Given the description of an element on the screen output the (x, y) to click on. 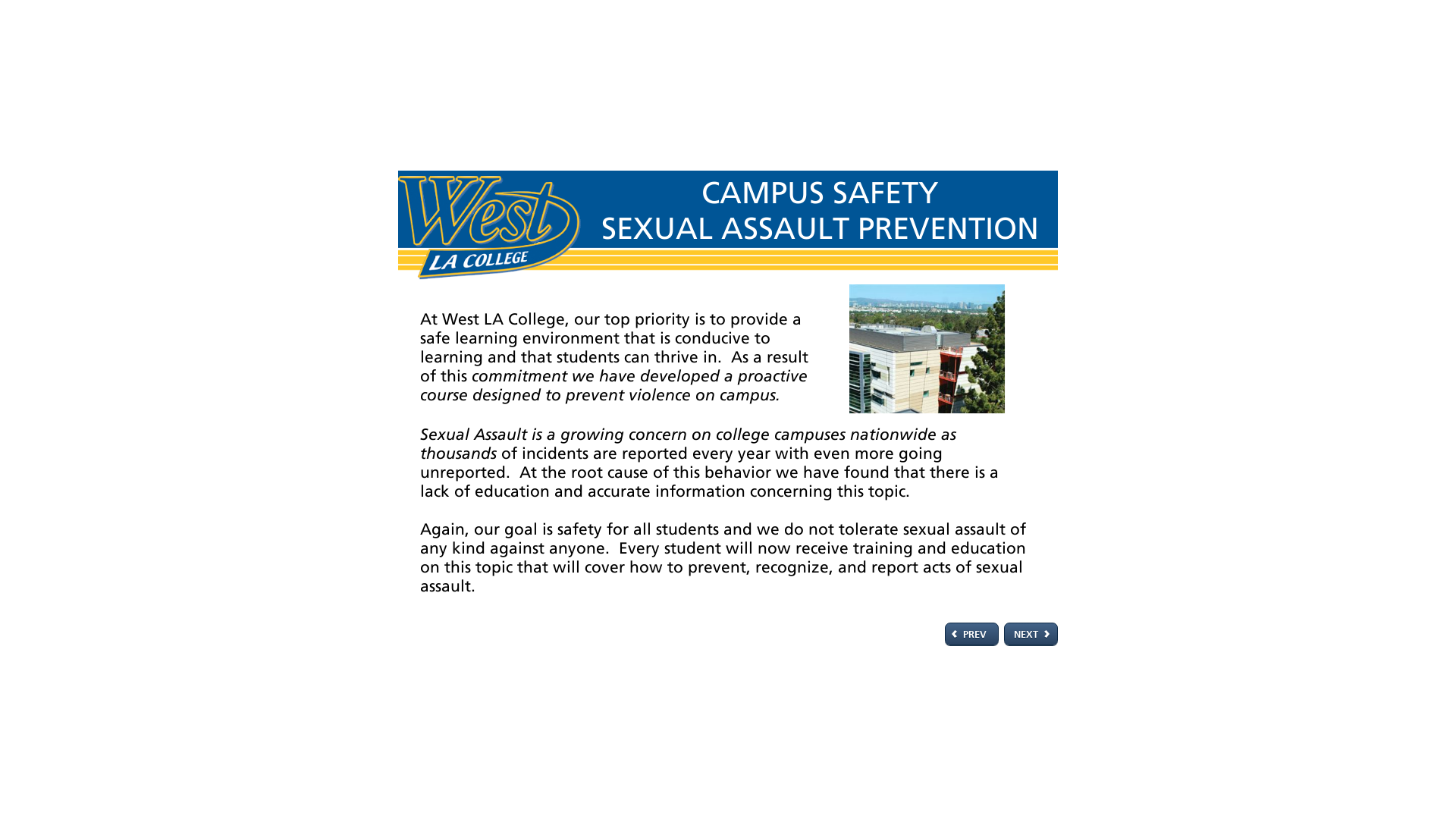
NEXT Element type: text (1030, 633)
PREV Element type: text (971, 633)
